Given the description of an element on the screen output the (x, y) to click on. 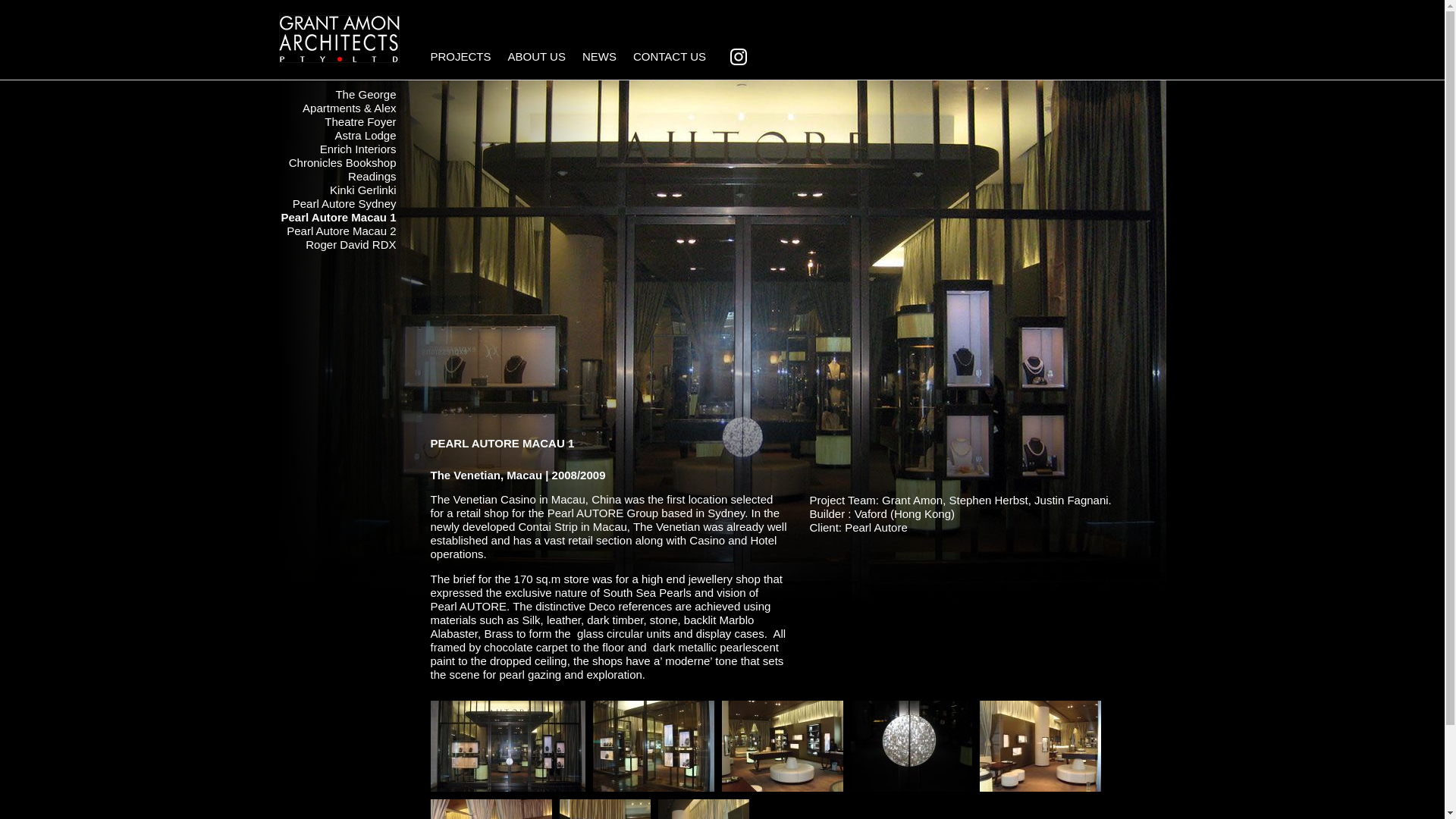
Pearl Autore Macau 2 (341, 230)
Pearl Autore Macau 1 (1039, 744)
PROJECTS (464, 60)
Pearl Autore Sydney (344, 203)
Pearl Autore Macau 1 (782, 744)
Kinki Gerlinki (363, 189)
Pearl Autore Macau 1 (507, 744)
ABOUT US (540, 60)
Astra Lodge (365, 134)
Readings (371, 175)
NEWS (603, 60)
Roger David RDX (350, 244)
Pearl Autore Macau 1 (338, 216)
Enrich Interiors (358, 148)
Pearl Autore Macau 1 (653, 744)
